Given the description of an element on the screen output the (x, y) to click on. 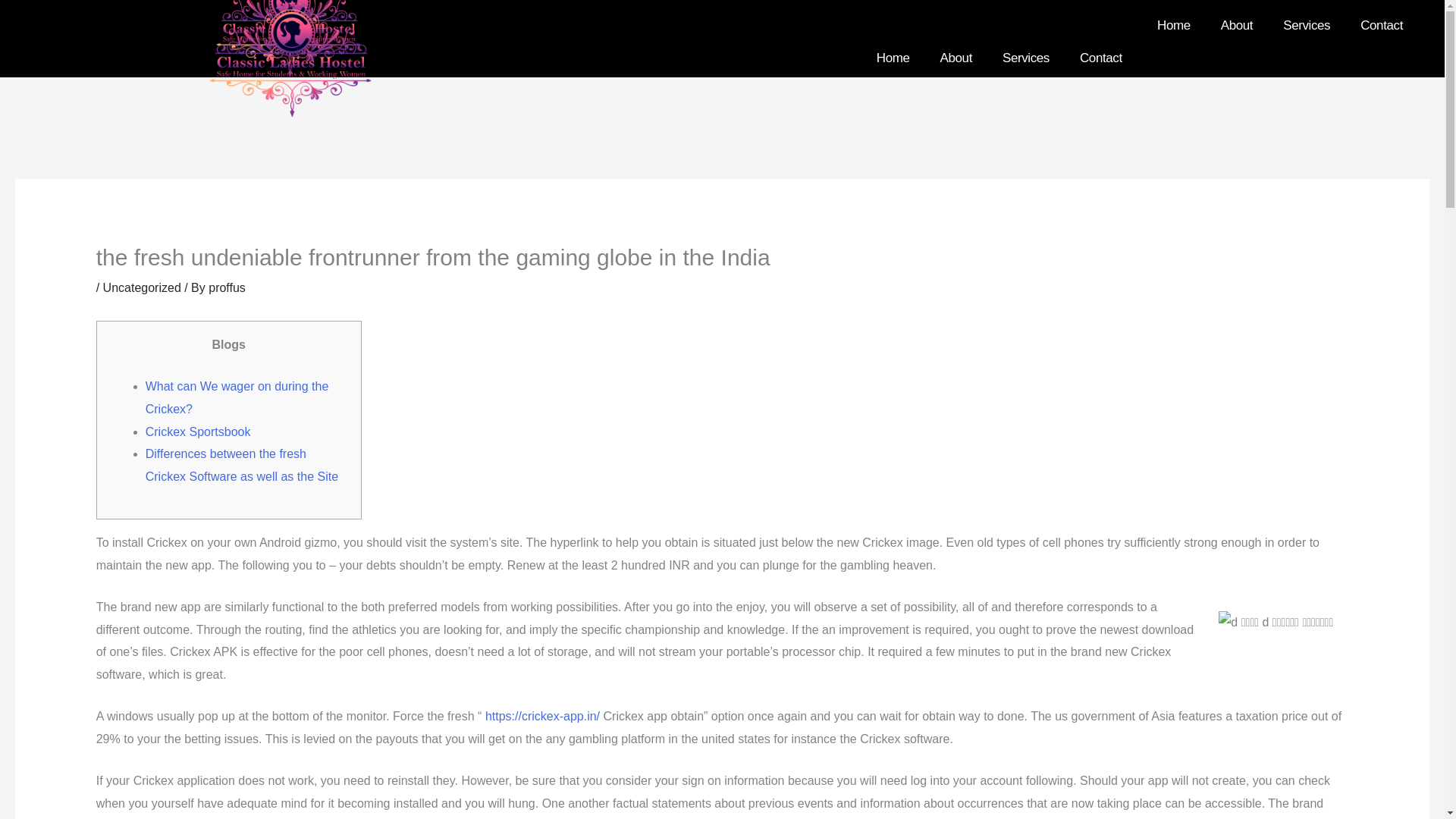
Contact (1100, 58)
Services (1025, 58)
Services (1306, 25)
Home (1173, 25)
Home (892, 58)
Contact (1381, 25)
proffus (227, 287)
What can We wager on during the Crickex? (237, 397)
About (1236, 25)
